Given the description of an element on the screen output the (x, y) to click on. 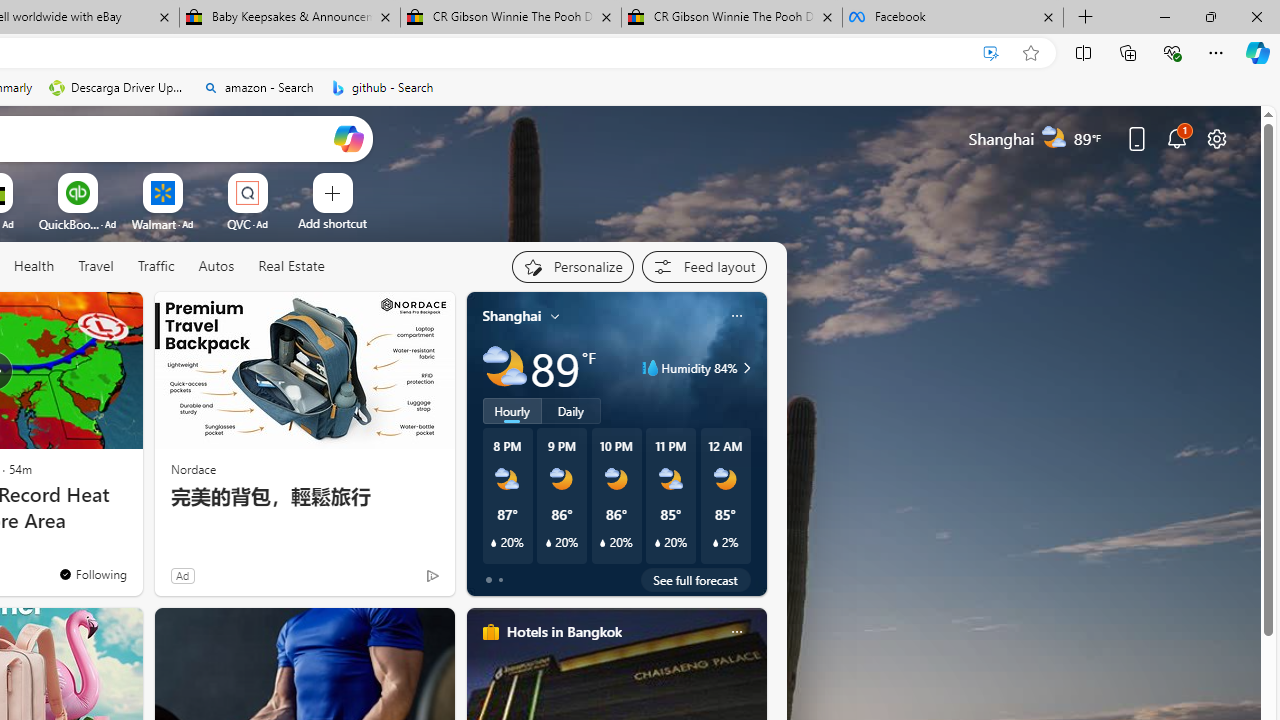
Health (34, 265)
Partly cloudy (504, 368)
